Given the description of an element on the screen output the (x, y) to click on. 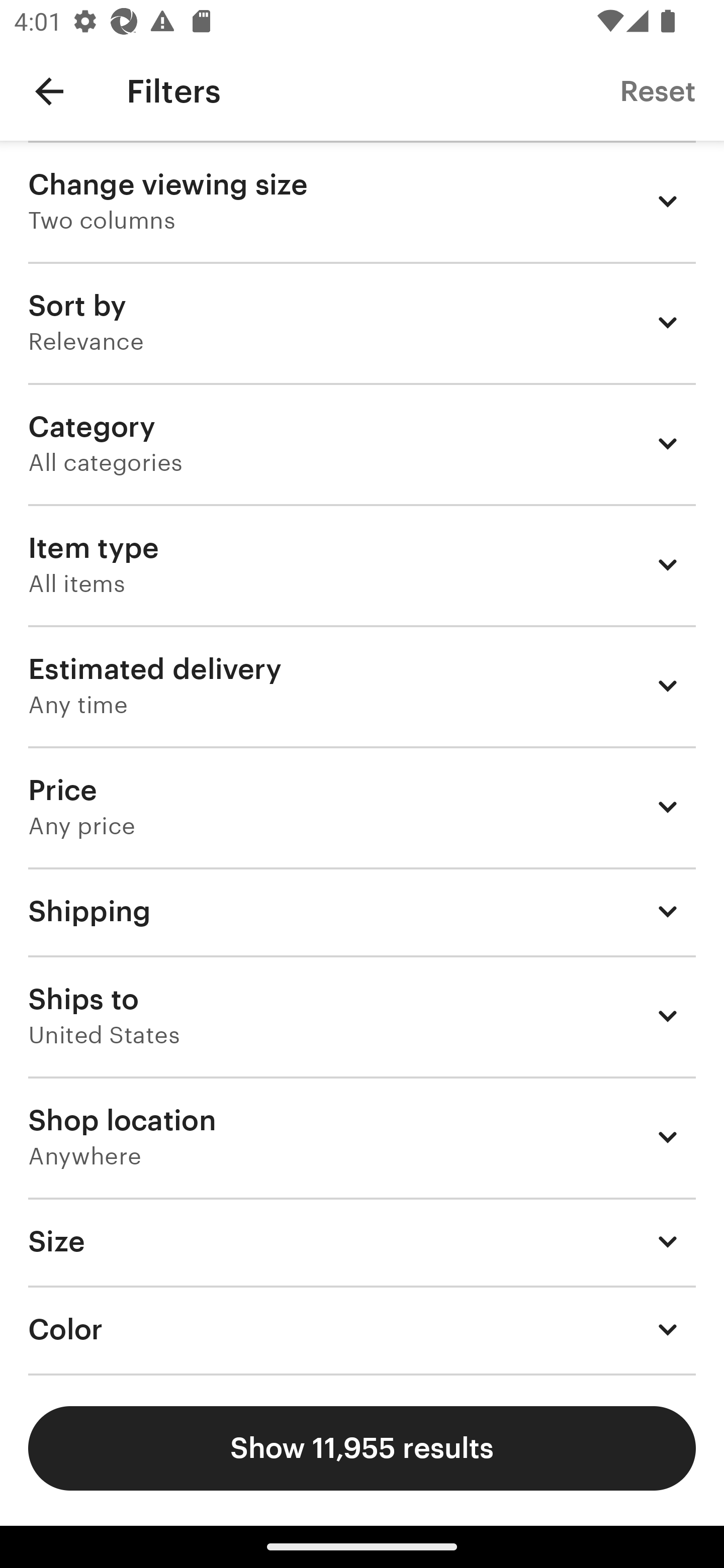
Navigate up (49, 91)
Reset (657, 90)
Change viewing size Two columns (362, 201)
Sort by Relevance (362, 321)
Category All categories (362, 442)
Item type All items (362, 564)
Estimated delivery Any time (362, 685)
Price Any price (362, 806)
Shipping (362, 910)
Ships to United States (362, 1015)
Shop location Anywhere (362, 1137)
Size (362, 1241)
Color (362, 1329)
Show 11,955 results Show results (361, 1448)
